Given the description of an element on the screen output the (x, y) to click on. 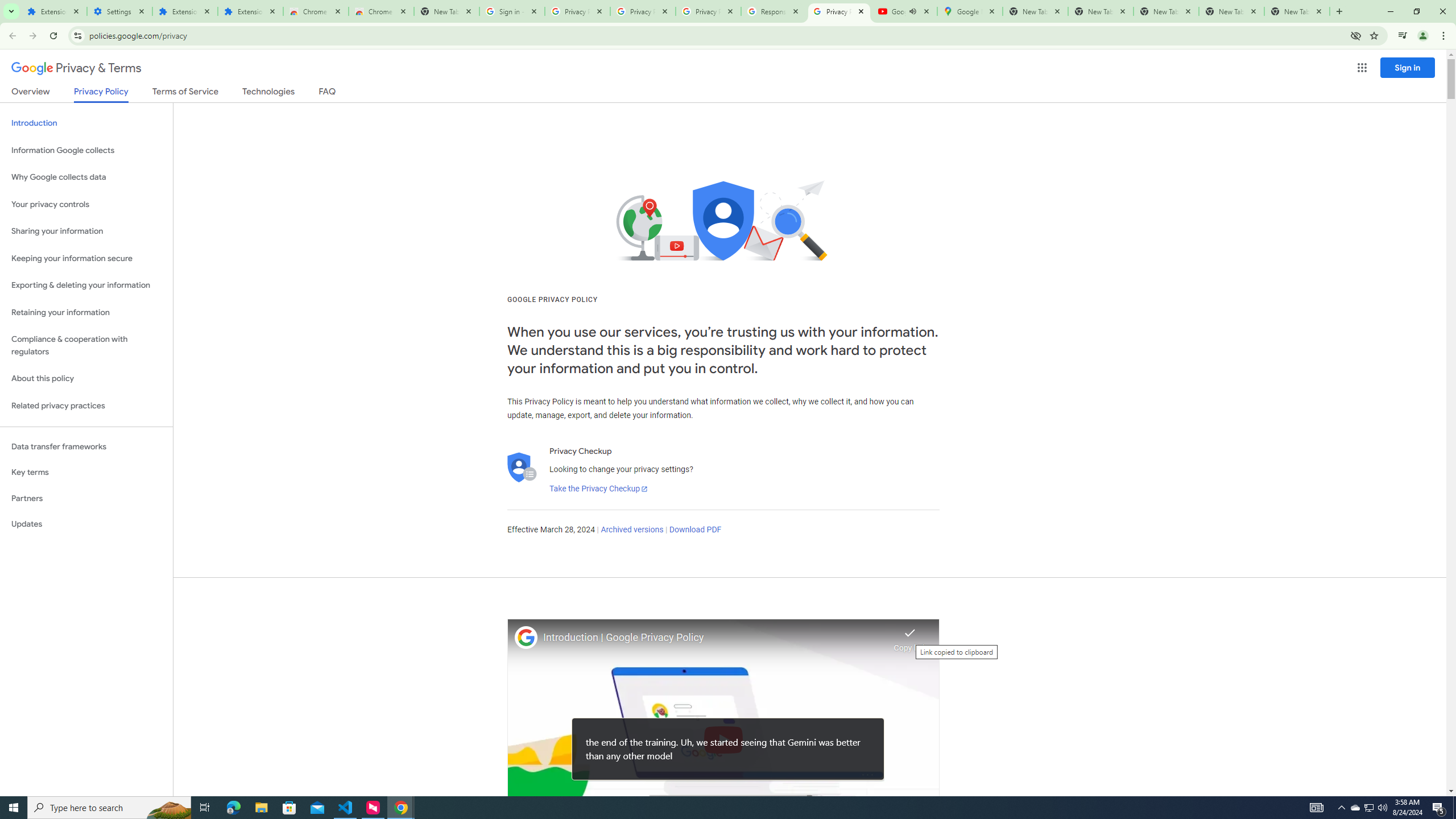
Archived versions (631, 529)
Control your music, videos, and more (1402, 35)
Privacy & Terms (76, 68)
Mute tab (912, 10)
